Given the description of an element on the screen output the (x, y) to click on. 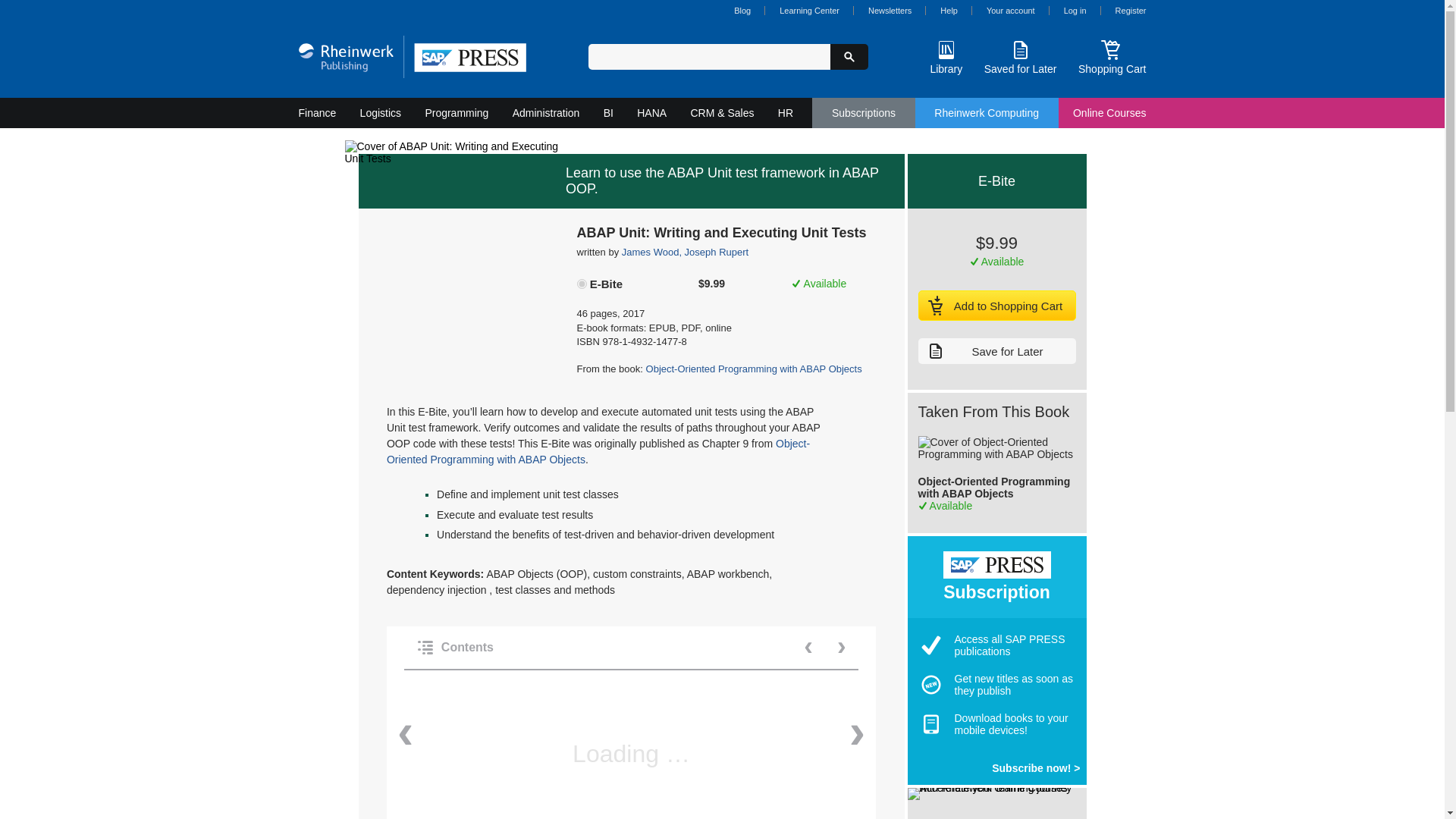
Newsletters (889, 10)
Search (848, 56)
Your account (1011, 10)
Help (949, 10)
Learning Center (809, 10)
Programming (455, 112)
Library (946, 55)
Register (1131, 10)
Blog (742, 10)
Logistics (380, 112)
